Given the description of an element on the screen output the (x, y) to click on. 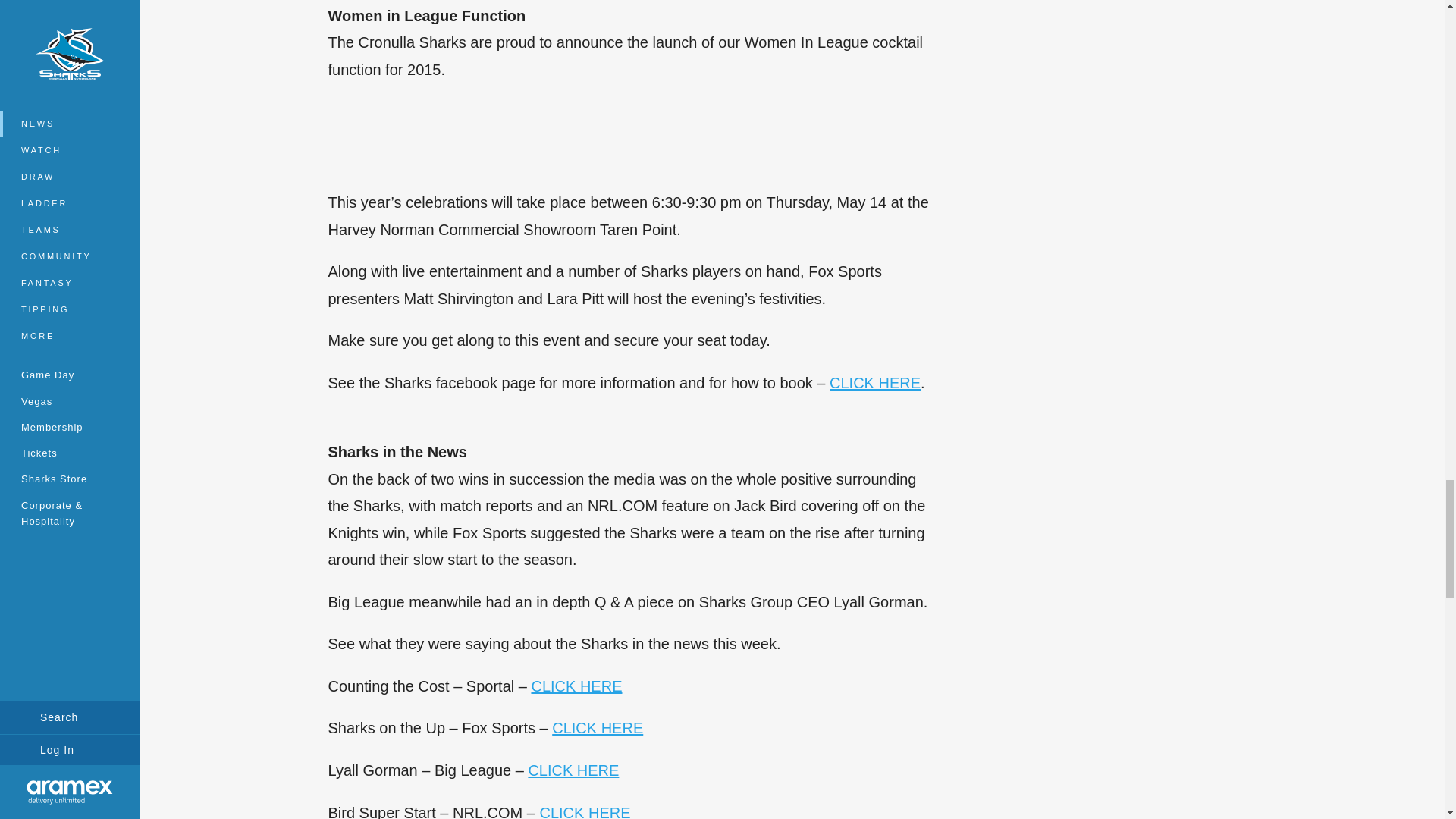
CLICK HERE (874, 382)
